Given the description of an element on the screen output the (x, y) to click on. 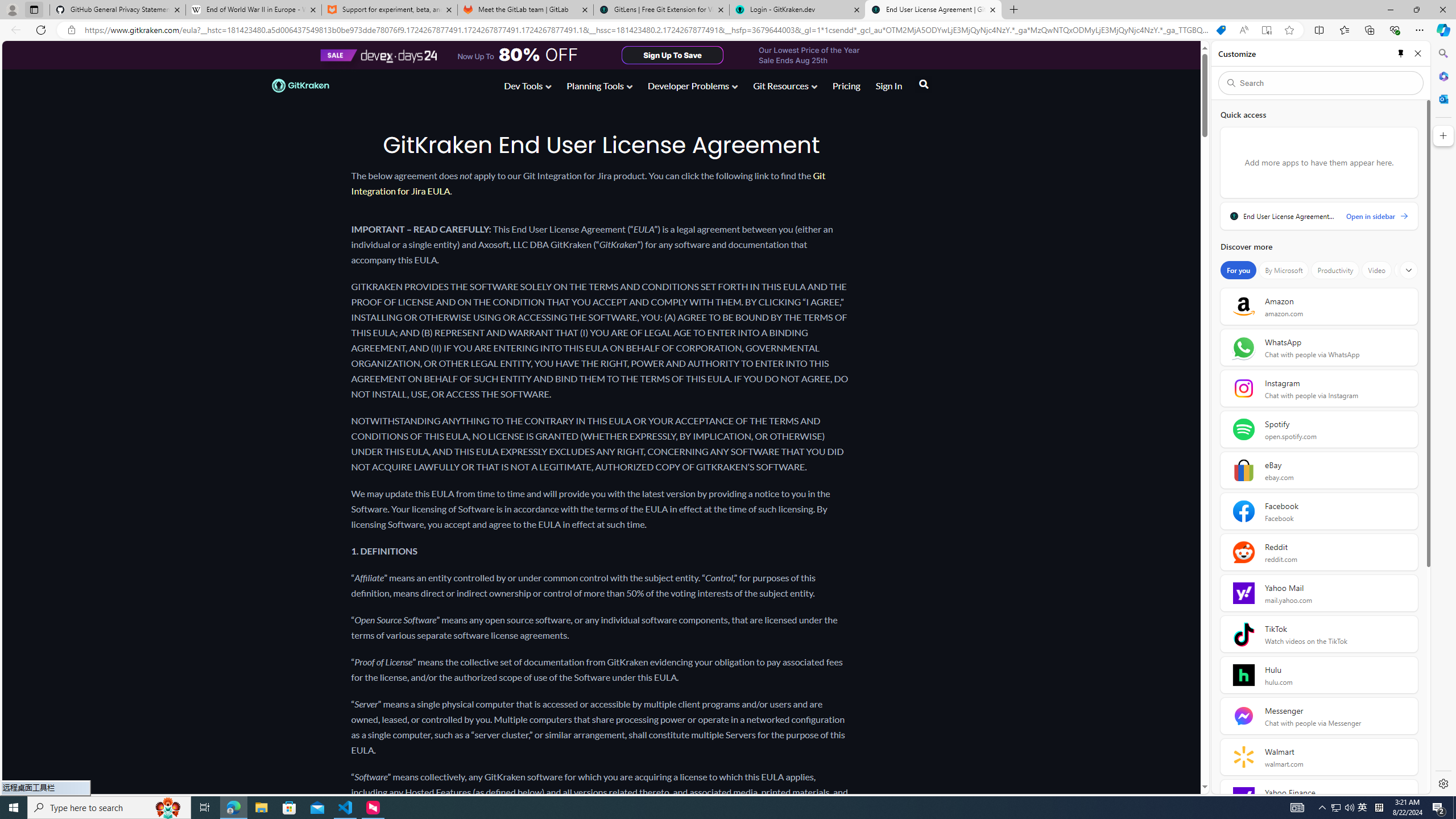
Meet the GitLab team | GitLab (525, 9)
